Given the description of an element on the screen output the (x, y) to click on. 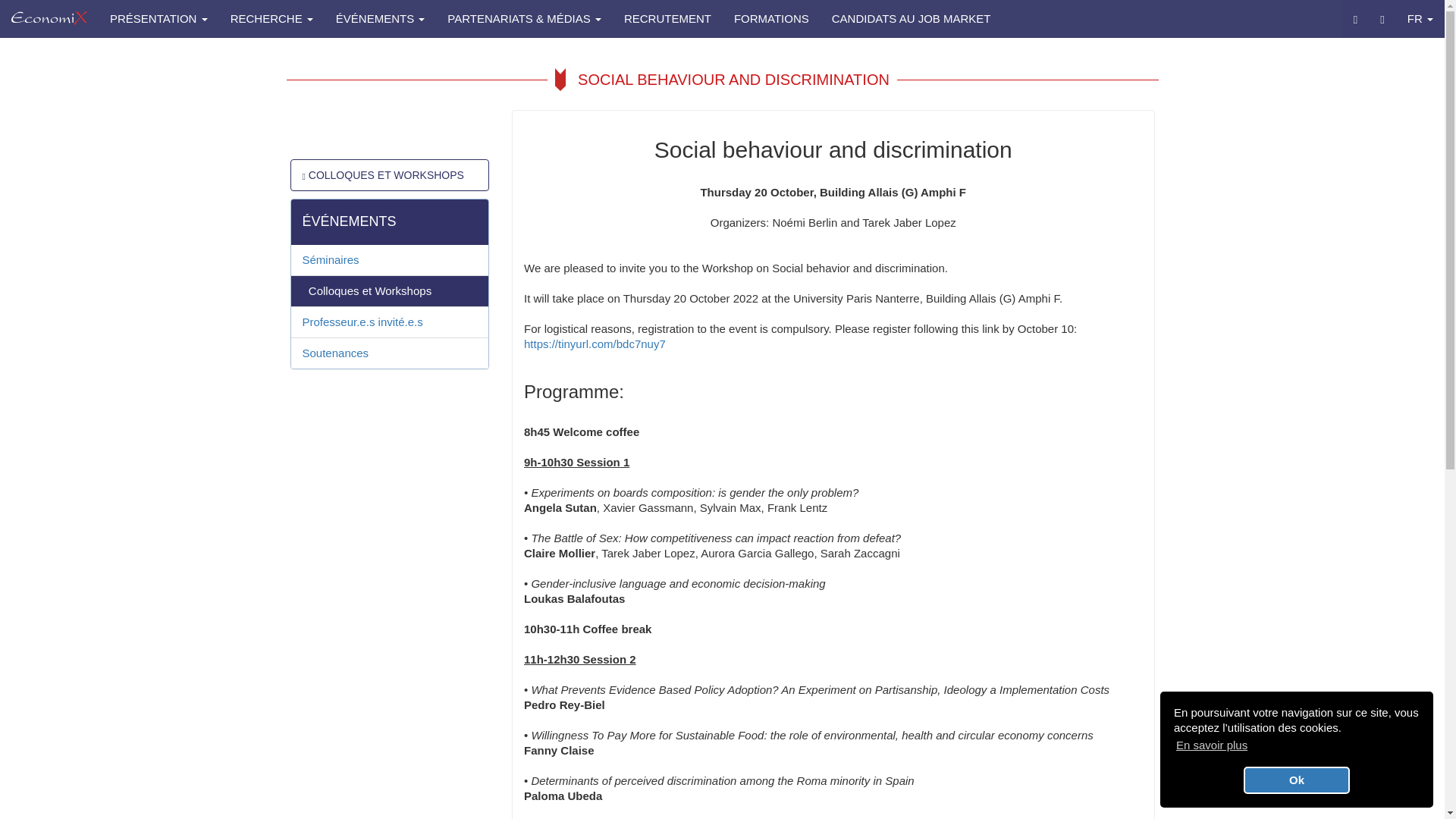
Colloques et Workshops (390, 291)
RECRUTEMENT (667, 18)
Ok (1296, 779)
En savoir plus (1211, 745)
Soutenances (390, 352)
CANDIDATS AU JOB MARKET (912, 18)
Soutenances (390, 352)
RECHERCHE (271, 18)
  Colloques et Workshops (390, 291)
COLLOQUES ET WORKSHOPS (382, 174)
FORMATIONS (771, 18)
Recherche (1355, 18)
